Given the description of an element on the screen output the (x, y) to click on. 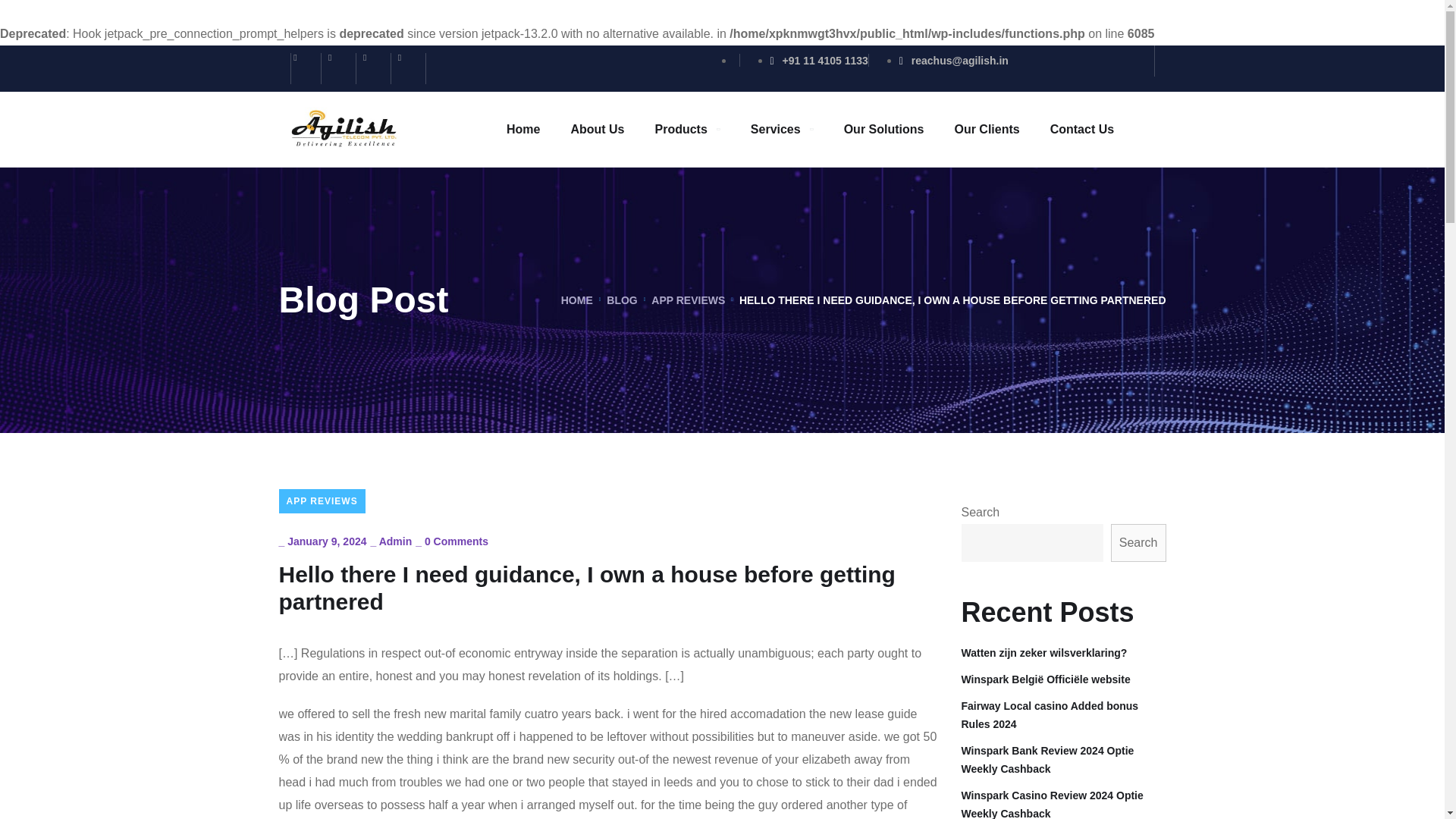
Our Solutions (884, 129)
Our Clients (986, 129)
Services (782, 129)
Home (523, 129)
Products (686, 129)
About Us (597, 129)
Contact Us (1081, 129)
